Given the description of an element on the screen output the (x, y) to click on. 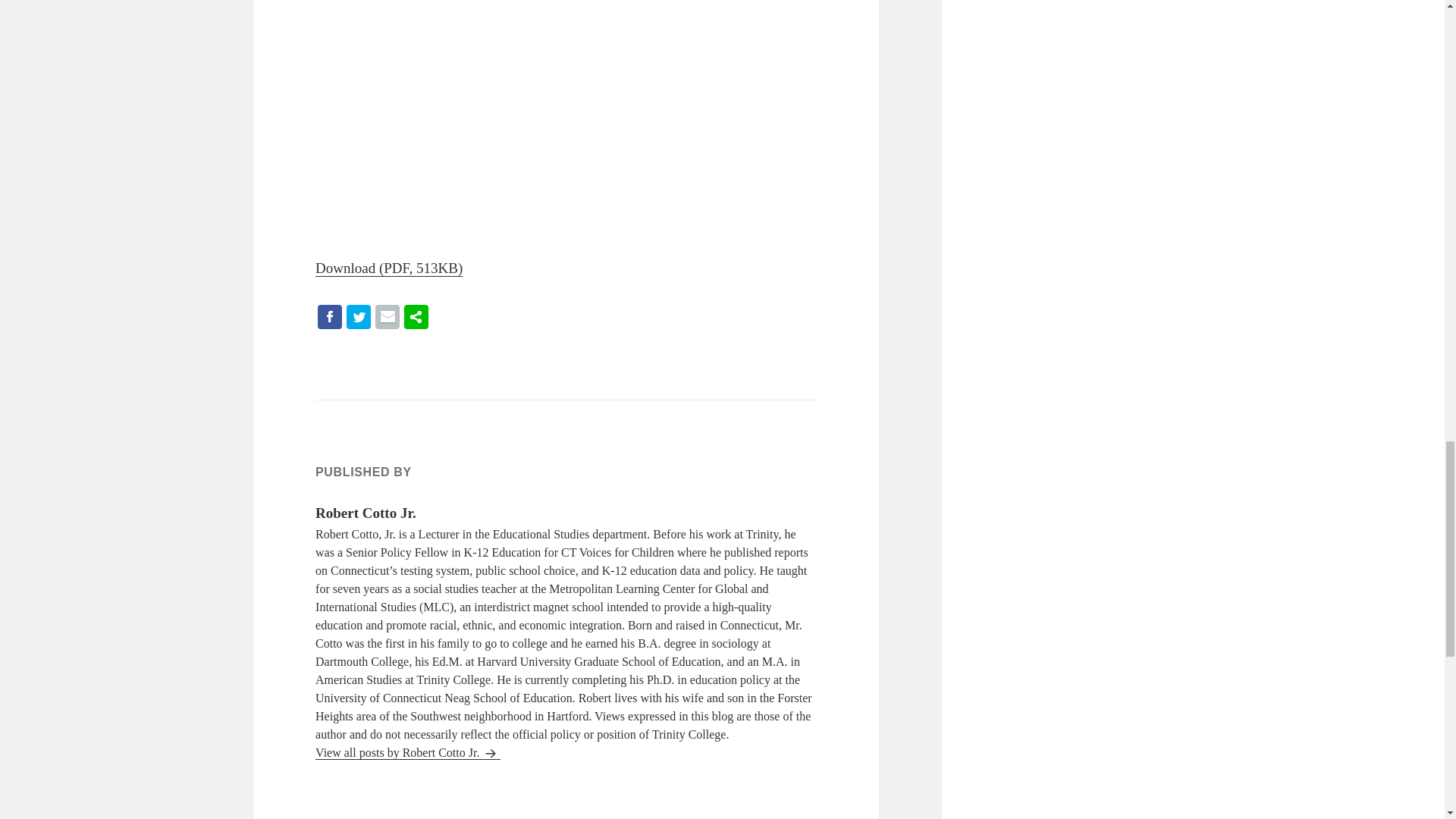
View all posts by Robert Cotto Jr. (407, 753)
